Given the description of an element on the screen output the (x, y) to click on. 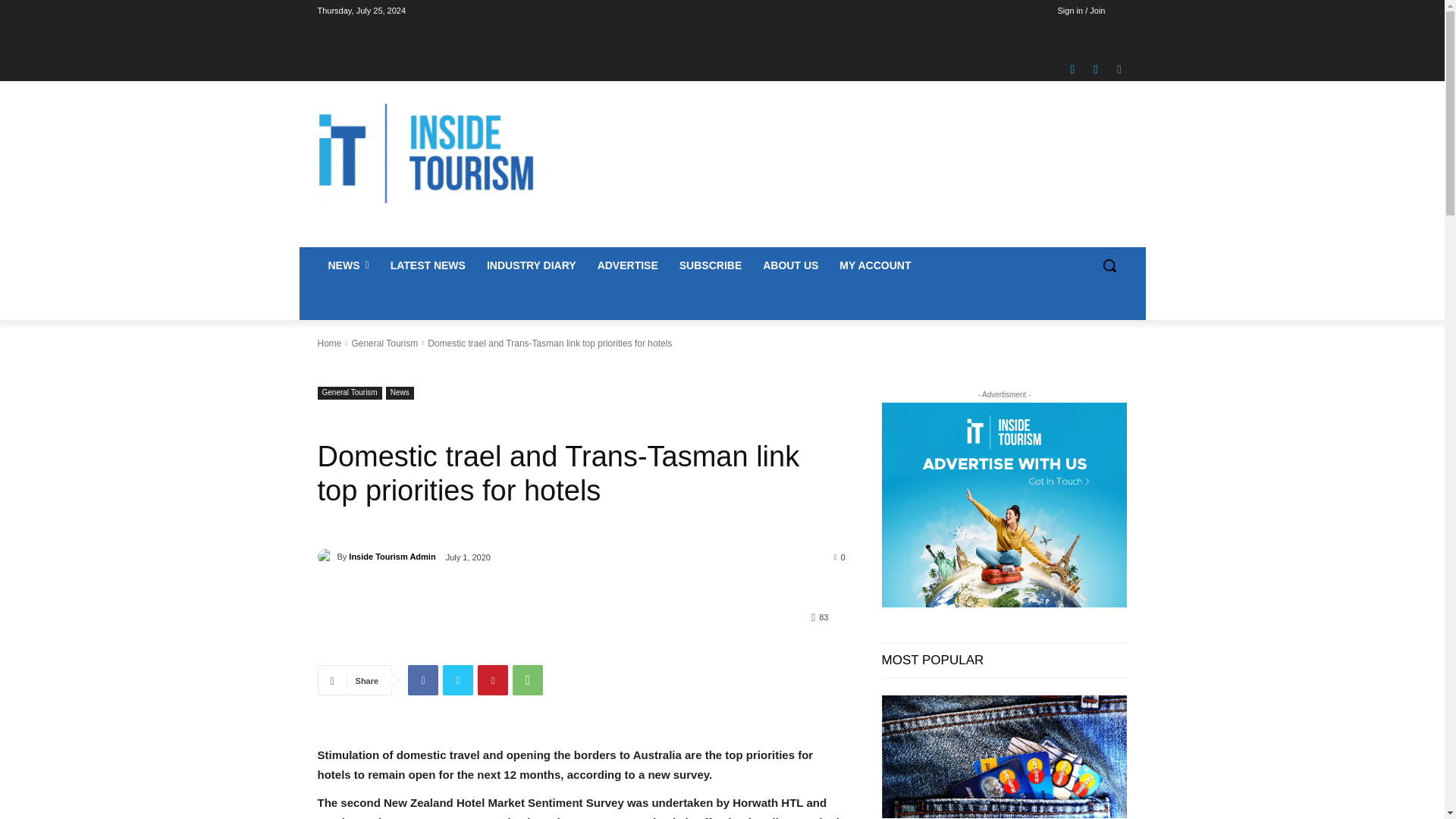
Facebook (1072, 68)
NEWS (347, 265)
Inside Tourism Admin (326, 556)
Twitter (1119, 68)
Instagram (1095, 68)
View all posts in General Tourism (383, 343)
